Given the description of an element on the screen output the (x, y) to click on. 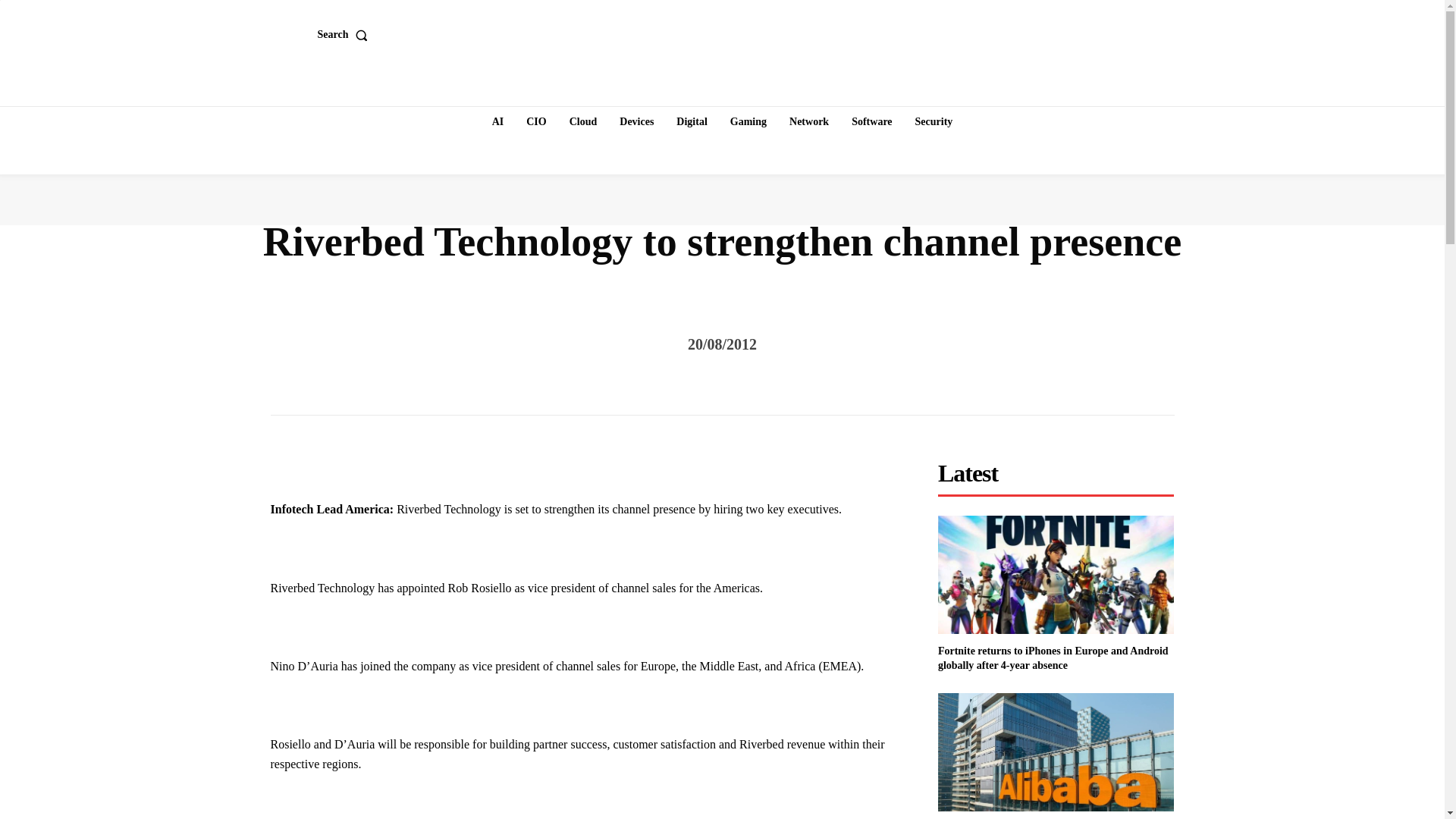
Search (345, 34)
CIO (535, 122)
Cloud (583, 122)
